Given the description of an element on the screen output the (x, y) to click on. 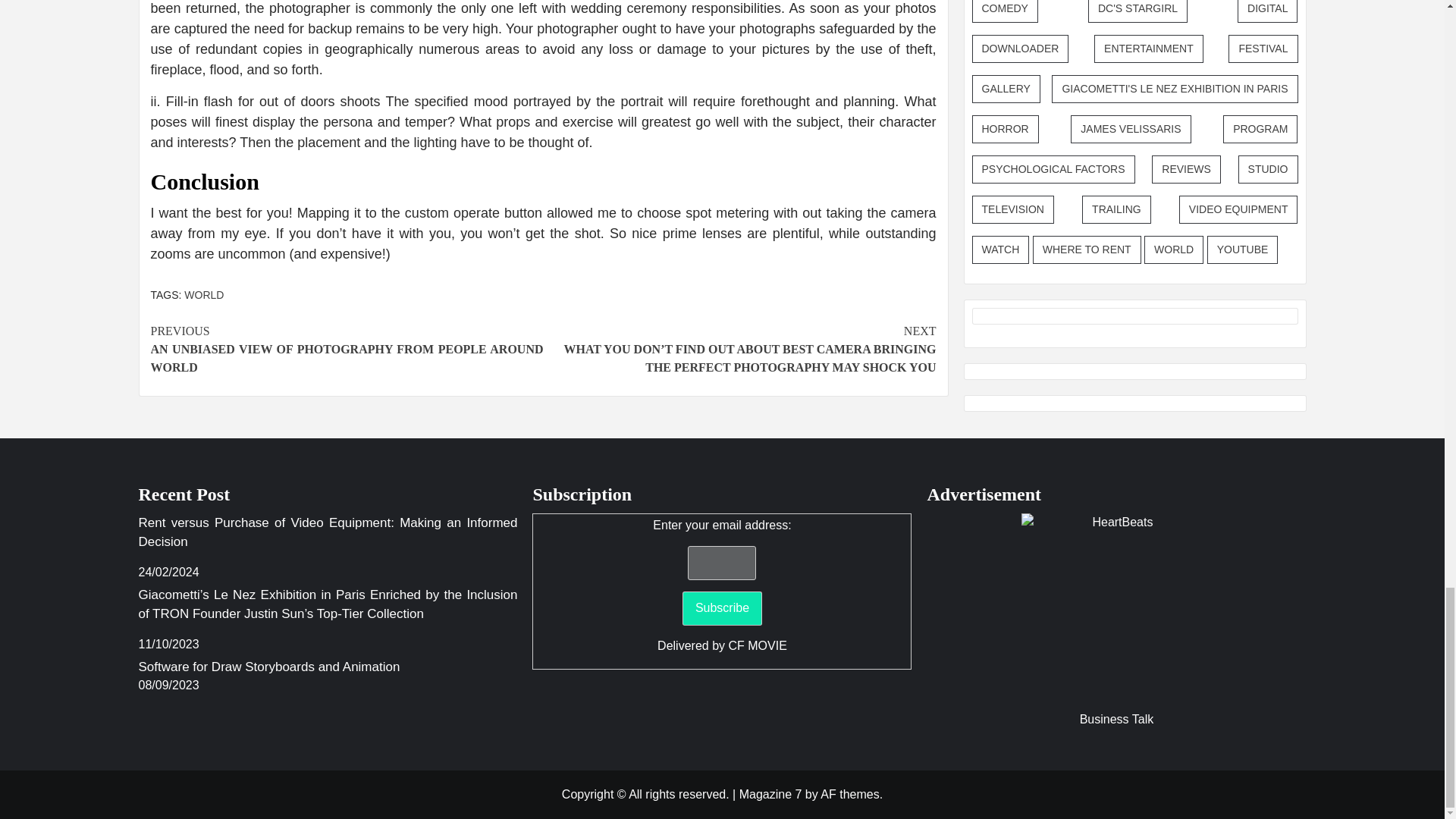
HeartBeats (1116, 607)
Subscribe (721, 608)
WORLD (204, 295)
